Given the description of an element on the screen output the (x, y) to click on. 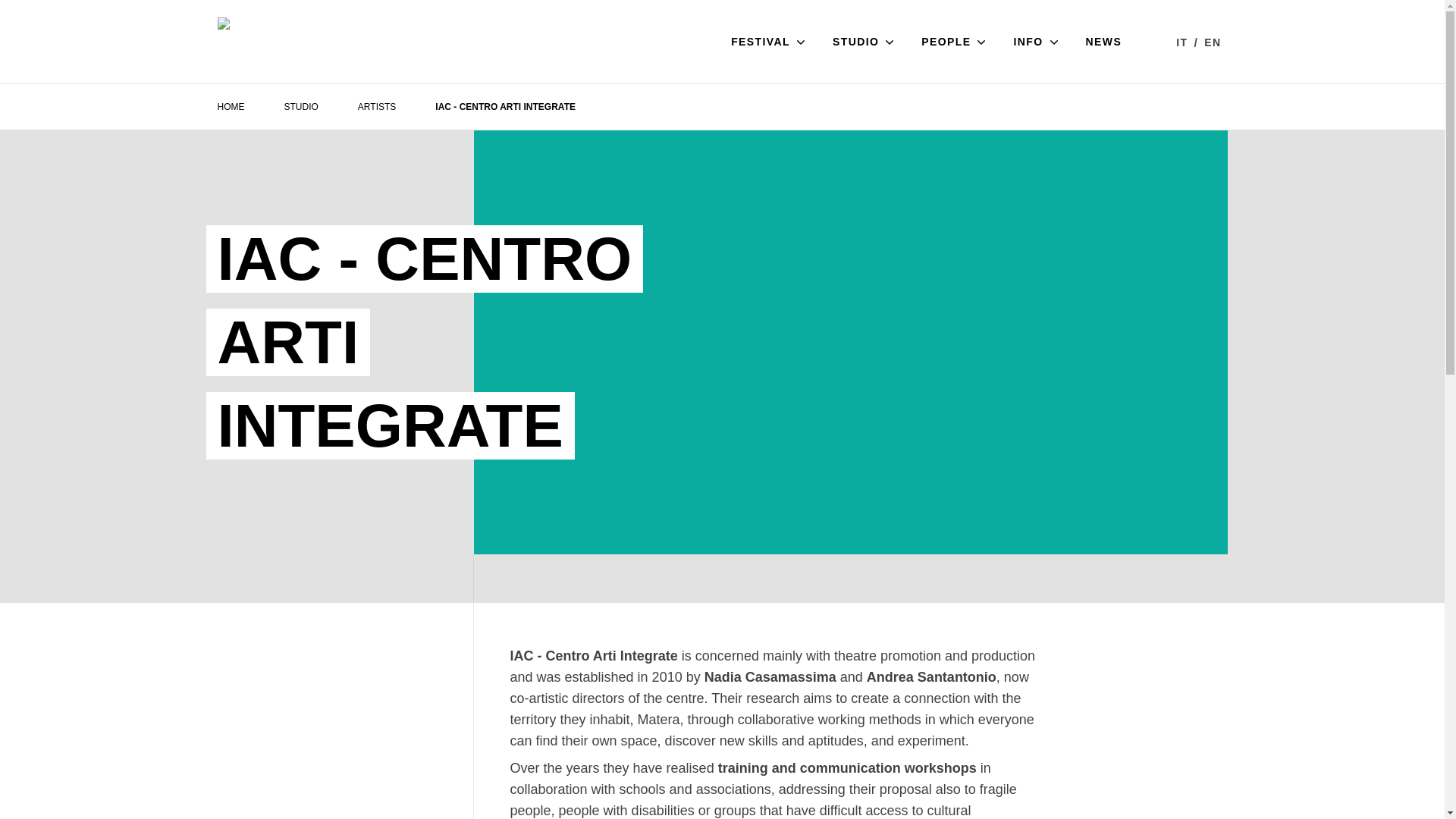
STUDIO (300, 106)
INFO (1037, 41)
PEOPLE (954, 41)
ARTISTS (377, 106)
NEWS (1104, 41)
HOME (230, 106)
STUDIO (864, 41)
FESTIVAL (769, 41)
Oriente Occidente (240, 41)
